Given the description of an element on the screen output the (x, y) to click on. 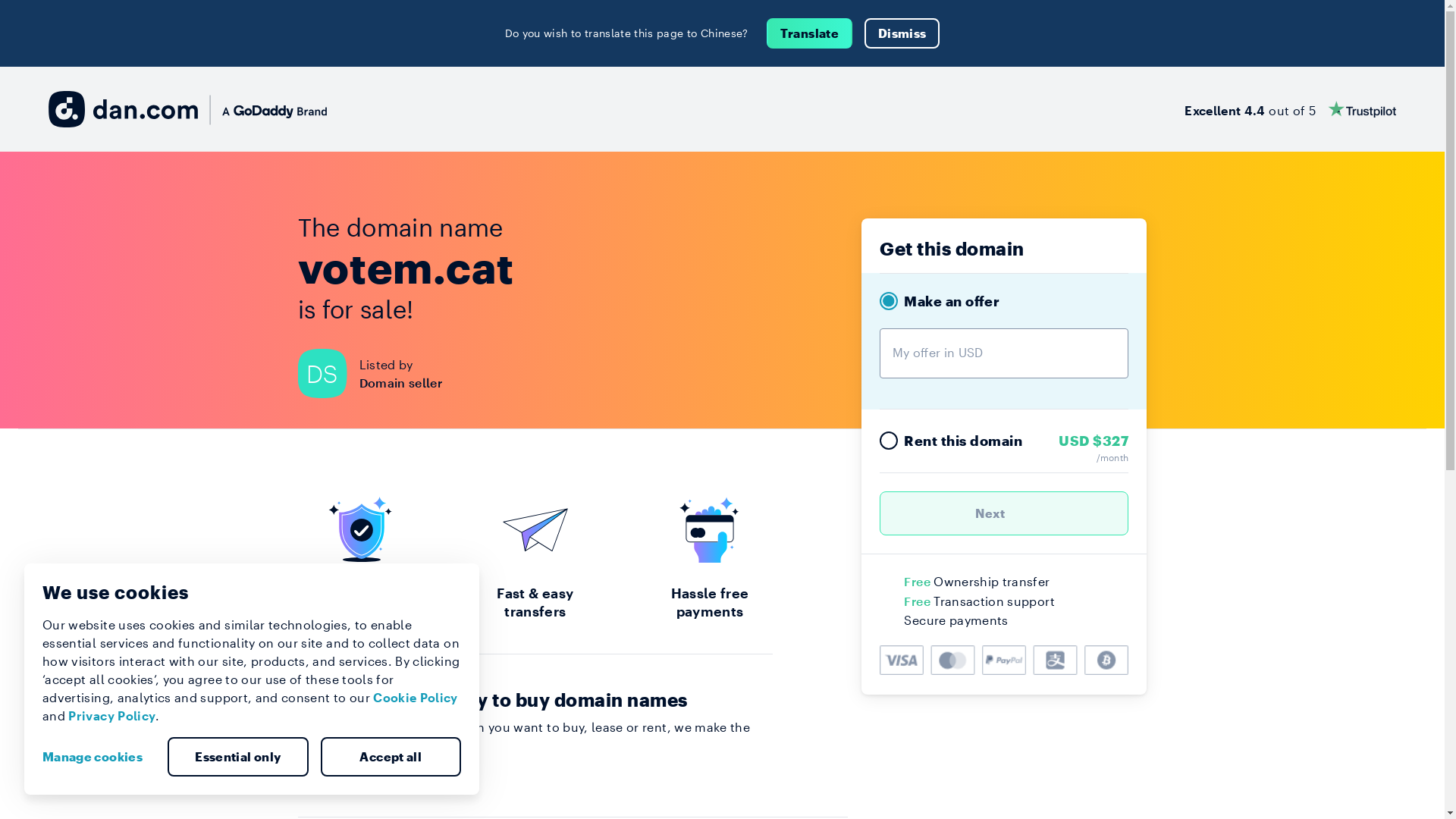
Manage cookies Element type: text (98, 756)
Dismiss Element type: text (901, 33)
DS Element type: text (327, 373)
Excellent 4.4 out of 5 Element type: text (1290, 109)
Accept all Element type: text (390, 756)
Translate Element type: text (809, 33)
Cookie Policy Element type: text (415, 697)
Essential only Element type: text (237, 756)
Next
) Element type: text (1003, 513)
Privacy Policy Element type: text (111, 715)
